Given the description of an element on the screen output the (x, y) to click on. 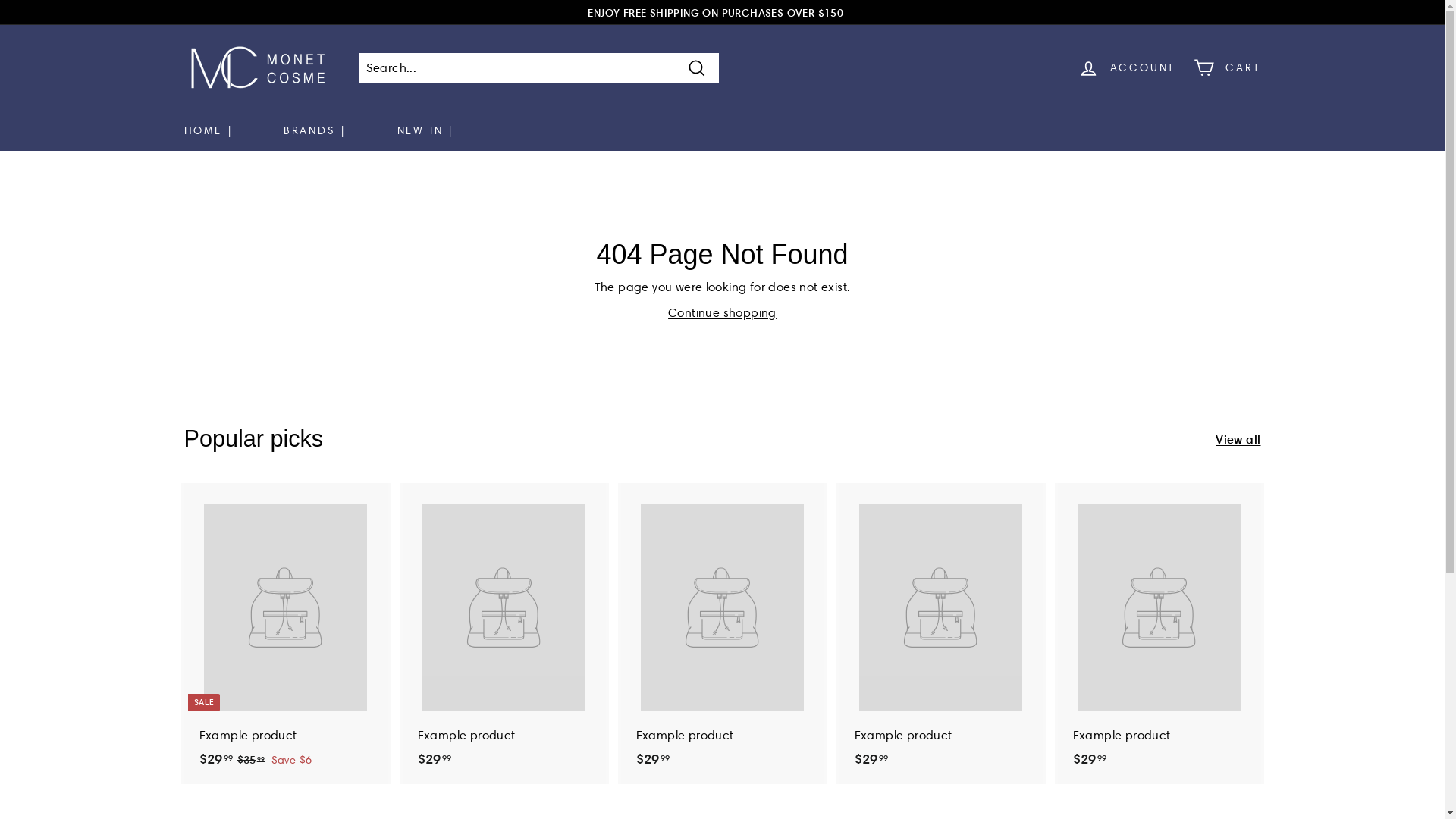
Example product
$2999
$29.99 Element type: text (721, 633)
SALE
Example product
$2999
$29.99
$3599
$35.99
Save $6 Element type: text (284, 633)
Skip to content Element type: text (0, 0)
Example product
$2999
$29.99 Element type: text (1158, 633)
Continue shopping Element type: text (722, 312)
ACCOUNT Element type: text (1127, 67)
View all Element type: text (1237, 438)
Example product
$2999
$29.99 Element type: text (503, 633)
Example product
$2999
$29.99 Element type: text (939, 633)
